Given the description of an element on the screen output the (x, y) to click on. 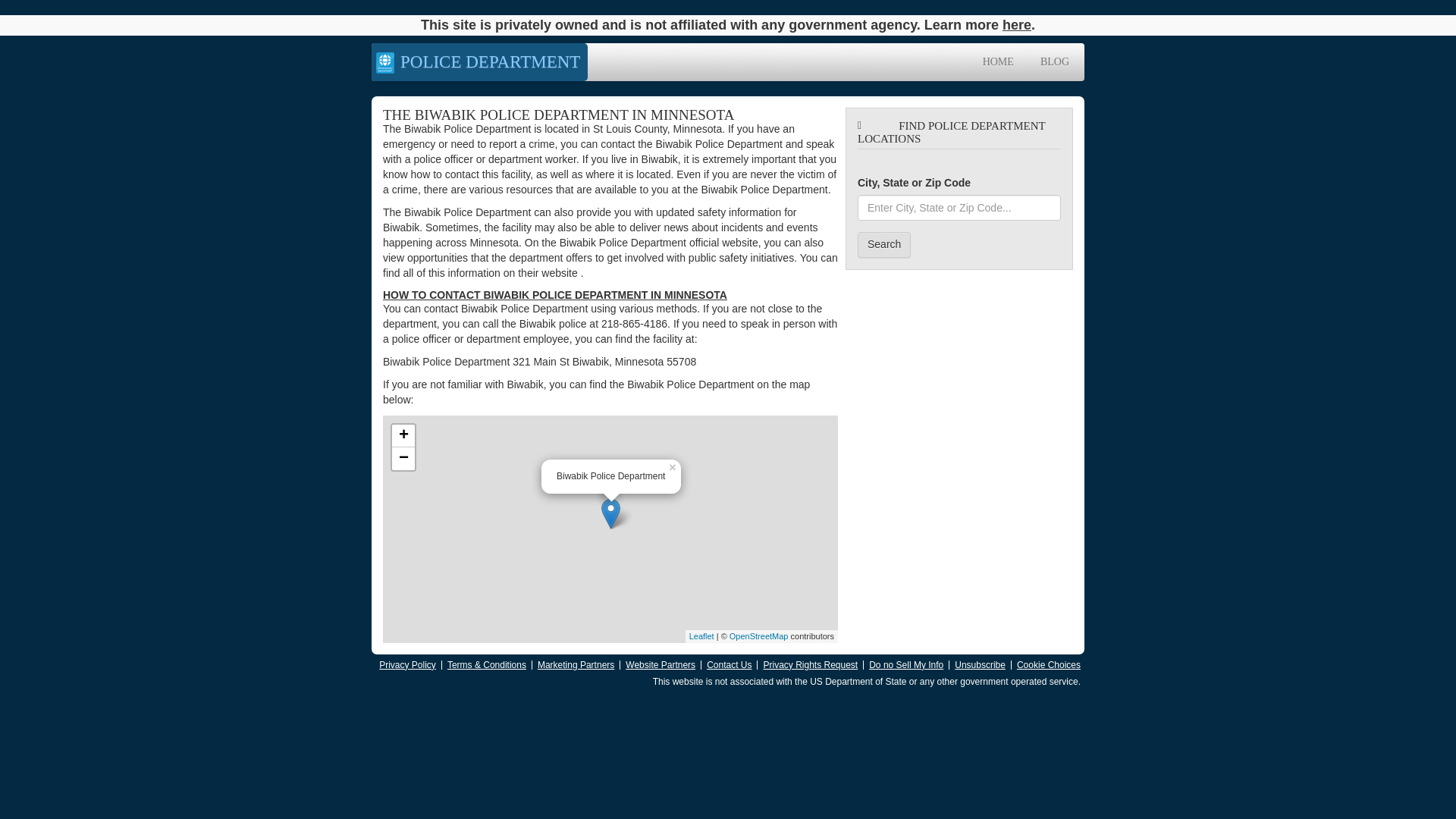
Privacy Rights Request (809, 665)
A JS library for interactive maps (701, 635)
Leaflet (701, 635)
Website Partners (660, 665)
HOME (998, 62)
Search (884, 244)
Marketing Partners (575, 665)
Do no Sell My Info (906, 665)
Unsubscribe (980, 665)
Privacy Policy (406, 665)
